Given the description of an element on the screen output the (x, y) to click on. 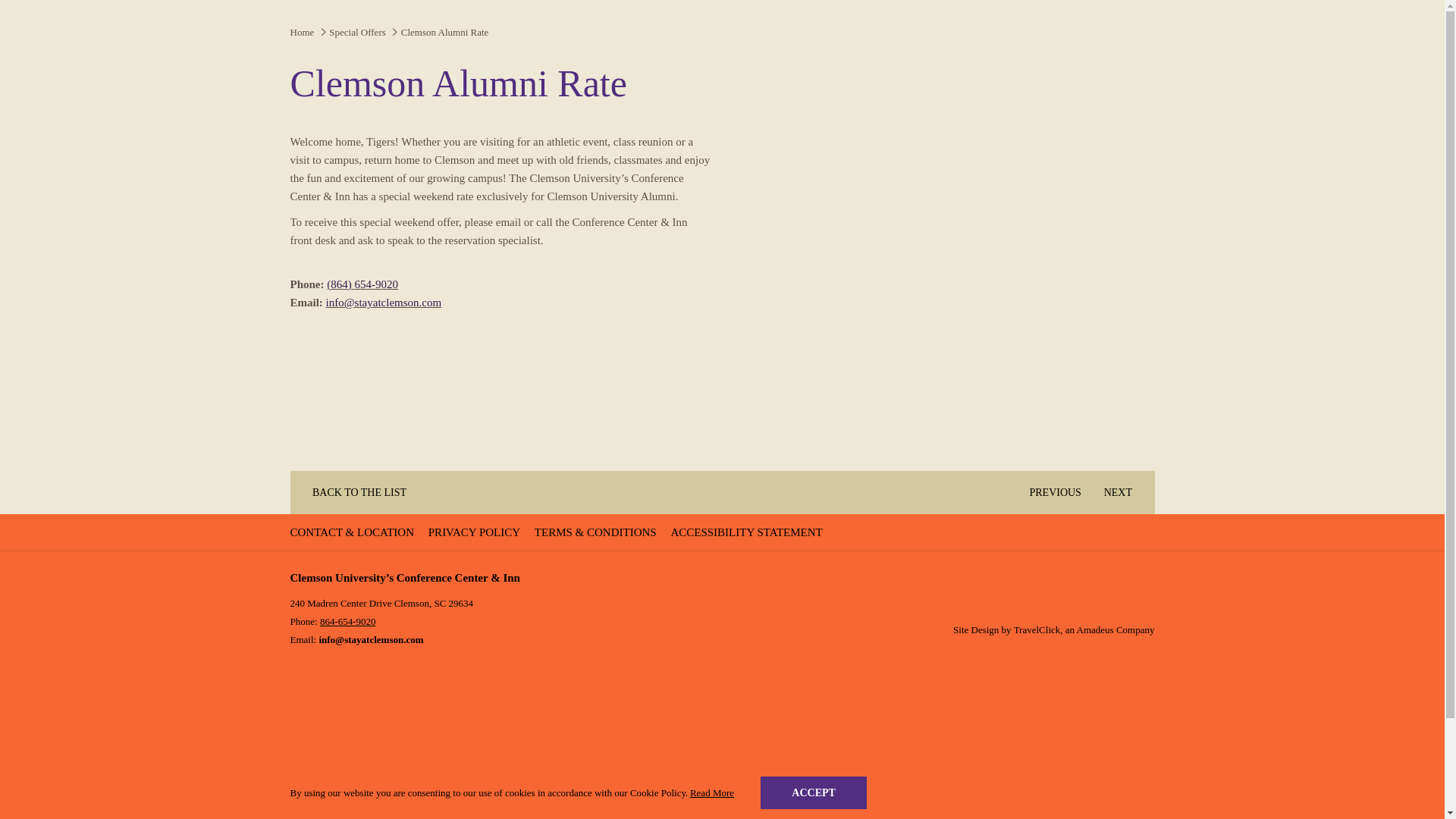
Special Offers (357, 31)
864-654-9020 (347, 621)
Clemson Alumni Rate (446, 31)
TravelClick (1037, 629)
PREVIOUS (1048, 492)
BACK TO THE LIST (352, 492)
Home (301, 31)
NEXT (1124, 492)
PRIVACY POLICY (476, 532)
ACCESSIBILITY STATEMENT (747, 532)
ACCEPT (813, 792)
